Given the description of an element on the screen output the (x, y) to click on. 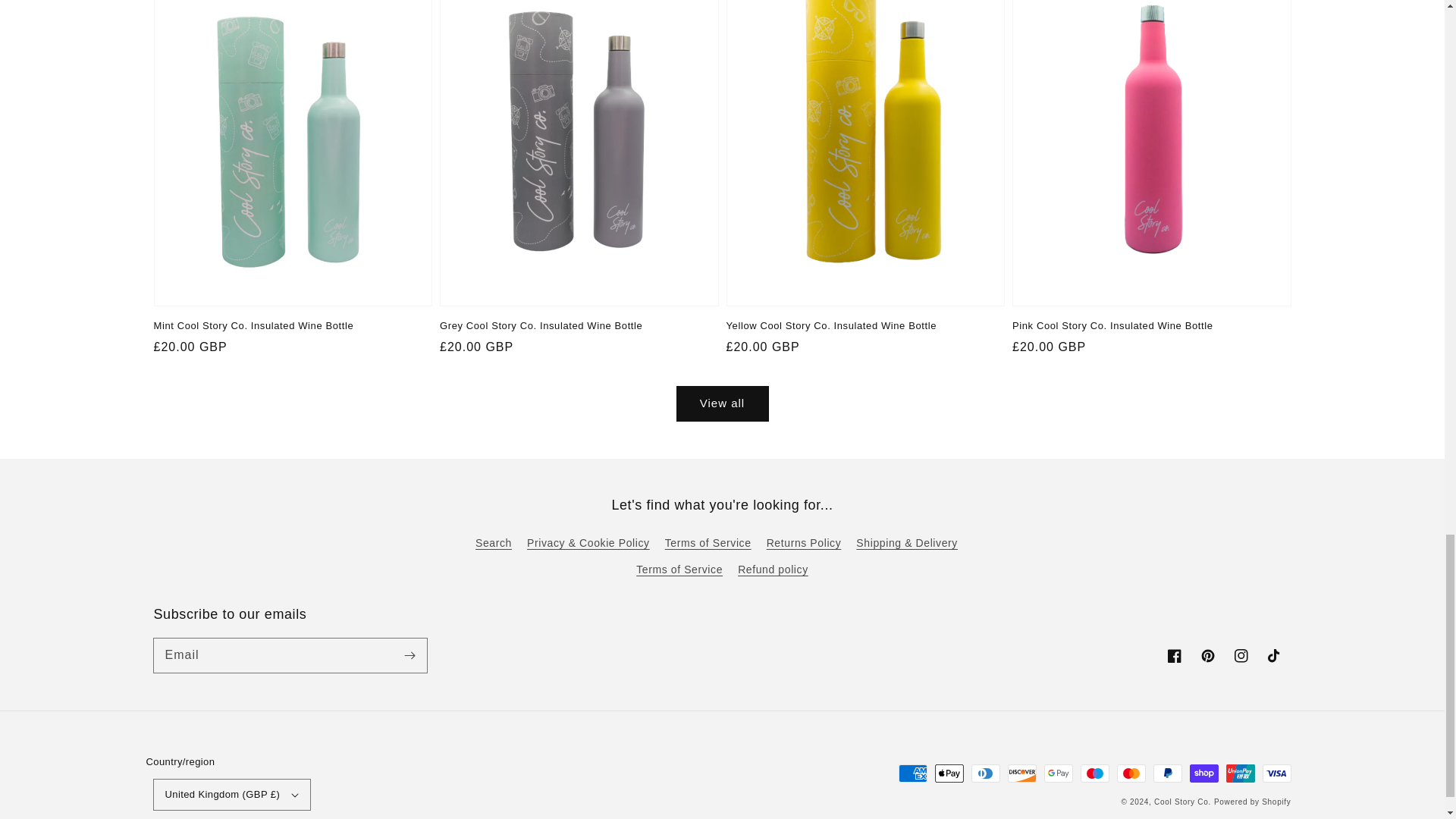
View all (722, 403)
